Given the description of an element on the screen output the (x, y) to click on. 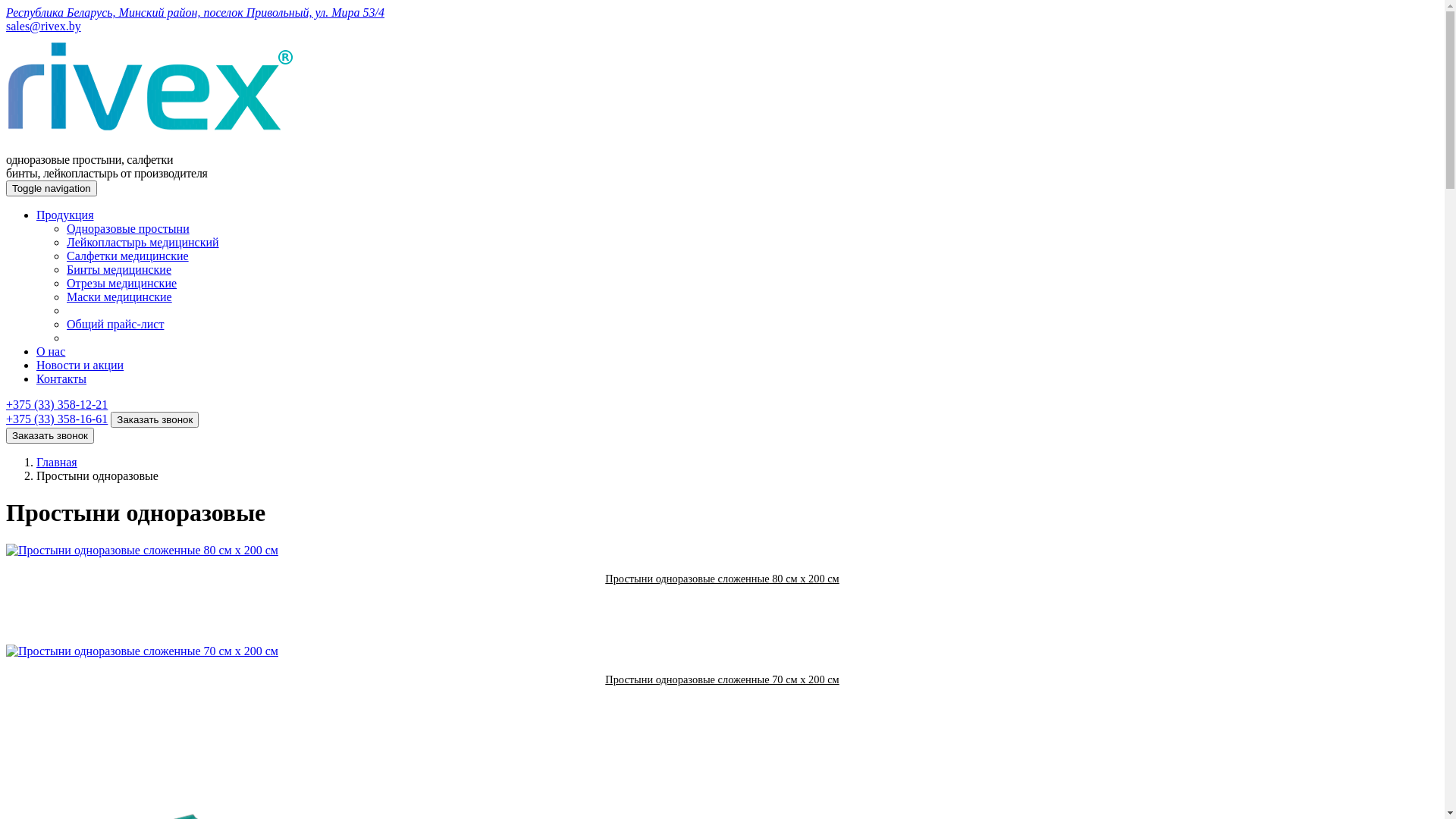
+375 (33) 358-12-21 Element type: text (56, 404)
sales@rivex.by Element type: text (43, 25)
+375 (33) 358-16-61 Element type: text (56, 418)
Toggle navigation Element type: text (51, 188)
Toggle navigation Element type: text (51, 187)
